Given the description of an element on the screen output the (x, y) to click on. 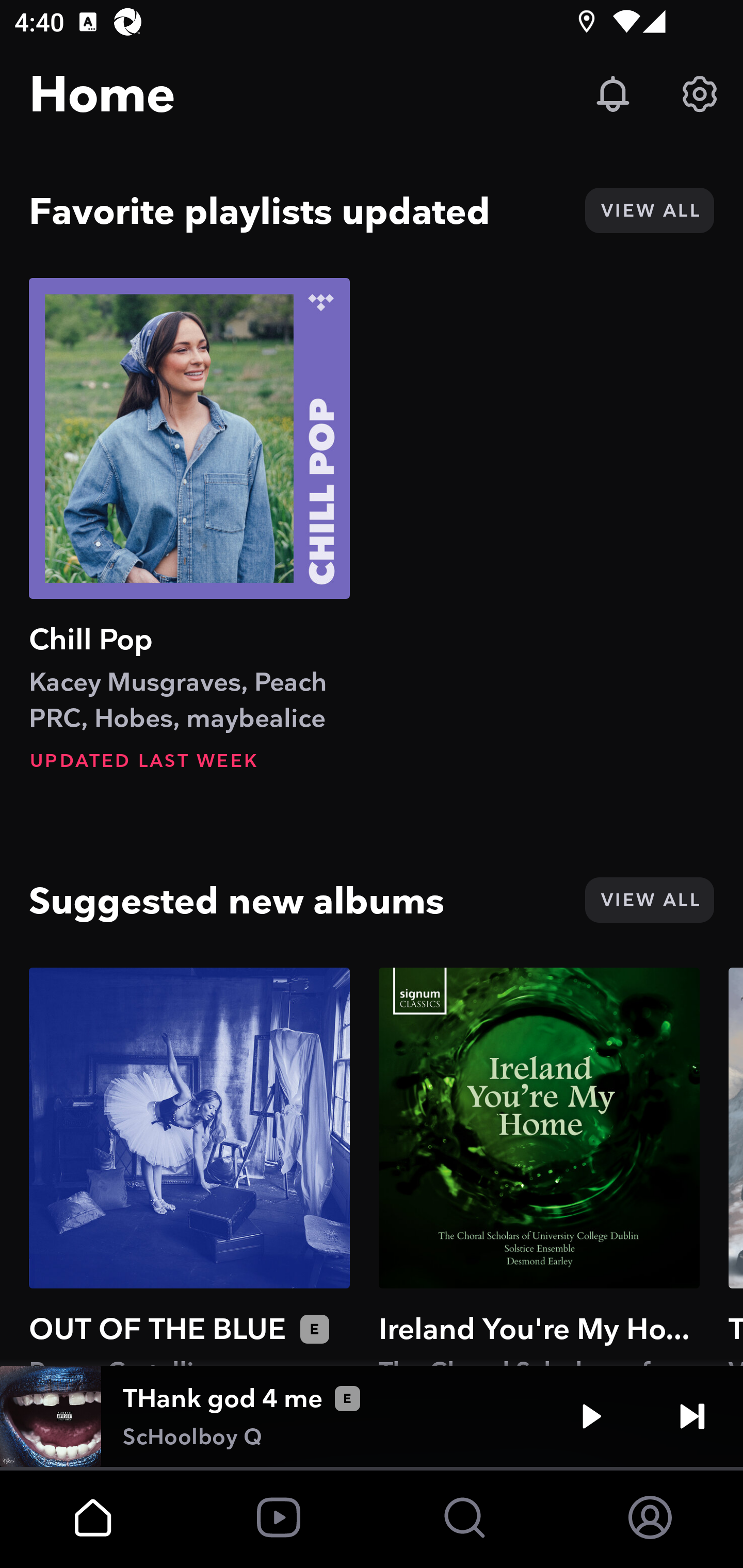
Updates (612, 93)
Settings (699, 93)
VIEW ALL (649, 210)
VIEW ALL (649, 899)
OUT OF THE BLUE Brynn Cartelli (188, 1166)
THank god 4 me    ScHoolboy Q Play (371, 1416)
Play (590, 1416)
